Given the description of an element on the screen output the (x, y) to click on. 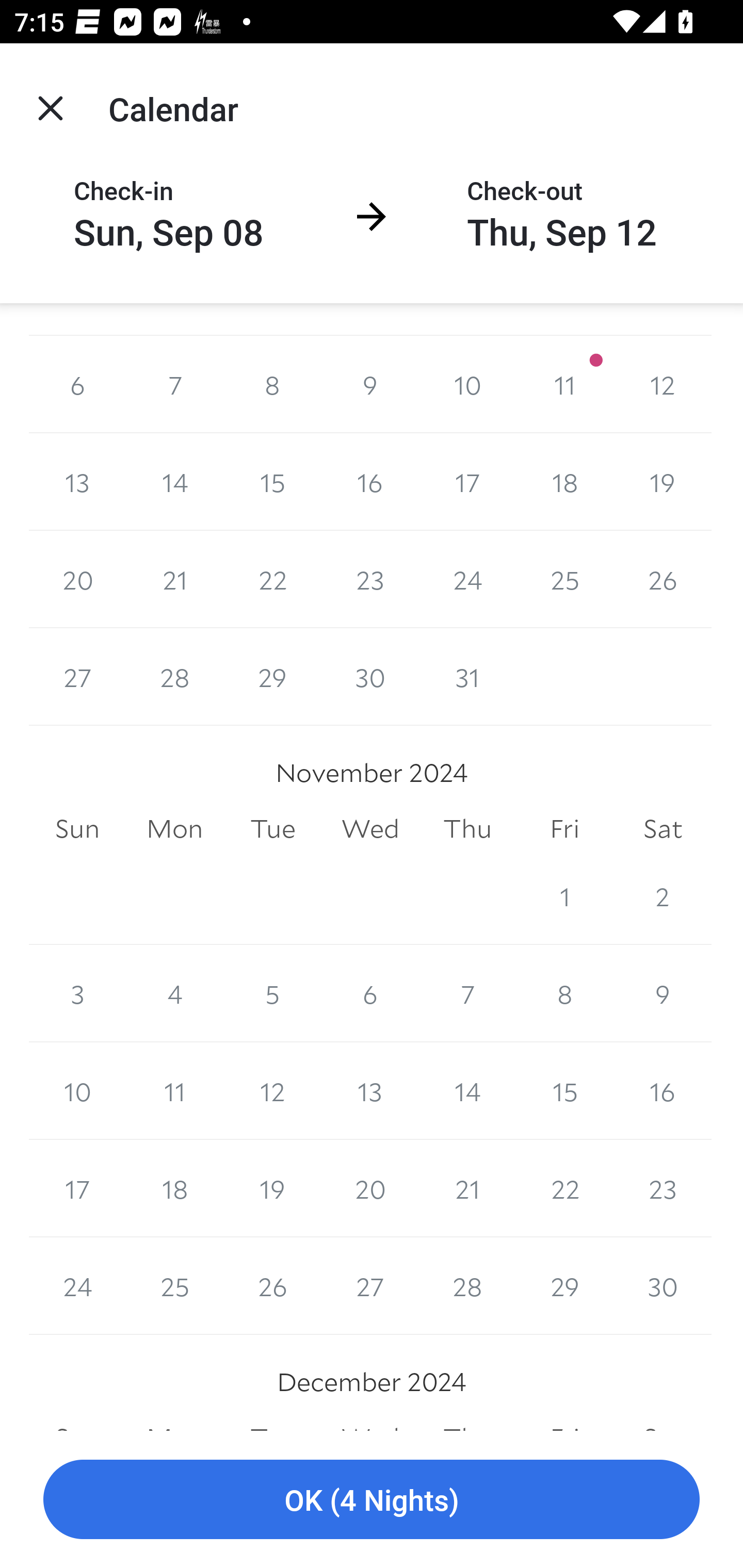
6 6 October 2024 (77, 383)
7 7 October 2024 (174, 383)
8 8 October 2024 (272, 383)
9 9 October 2024 (370, 383)
10 10 October 2024 (467, 383)
11 11 October 2024 (564, 383)
12 12 October 2024 (662, 383)
13 13 October 2024 (77, 480)
14 14 October 2024 (174, 480)
15 15 October 2024 (272, 480)
16 16 October 2024 (370, 480)
17 17 October 2024 (467, 480)
18 18 October 2024 (564, 480)
19 19 October 2024 (662, 480)
20 20 October 2024 (77, 578)
21 21 October 2024 (174, 578)
22 22 October 2024 (272, 578)
23 23 October 2024 (370, 578)
24 24 October 2024 (467, 578)
25 25 October 2024 (564, 578)
26 26 October 2024 (662, 578)
27 27 October 2024 (77, 676)
28 28 October 2024 (174, 676)
29 29 October 2024 (272, 676)
30 30 October 2024 (370, 676)
31 31 October 2024 (467, 676)
Sun (77, 828)
Mon (174, 828)
Tue (272, 828)
Wed (370, 828)
Thu (467, 828)
Fri (564, 828)
Sat (662, 828)
1 1 November 2024 (564, 895)
2 2 November 2024 (662, 895)
3 3 November 2024 (77, 993)
4 4 November 2024 (174, 993)
5 5 November 2024 (272, 993)
6 6 November 2024 (370, 993)
7 7 November 2024 (467, 993)
8 8 November 2024 (564, 993)
9 9 November 2024 (662, 993)
10 10 November 2024 (77, 1090)
11 11 November 2024 (174, 1090)
12 12 November 2024 (272, 1090)
13 13 November 2024 (370, 1090)
14 14 November 2024 (467, 1090)
15 15 November 2024 (564, 1090)
16 16 November 2024 (662, 1090)
